Given the description of an element on the screen output the (x, y) to click on. 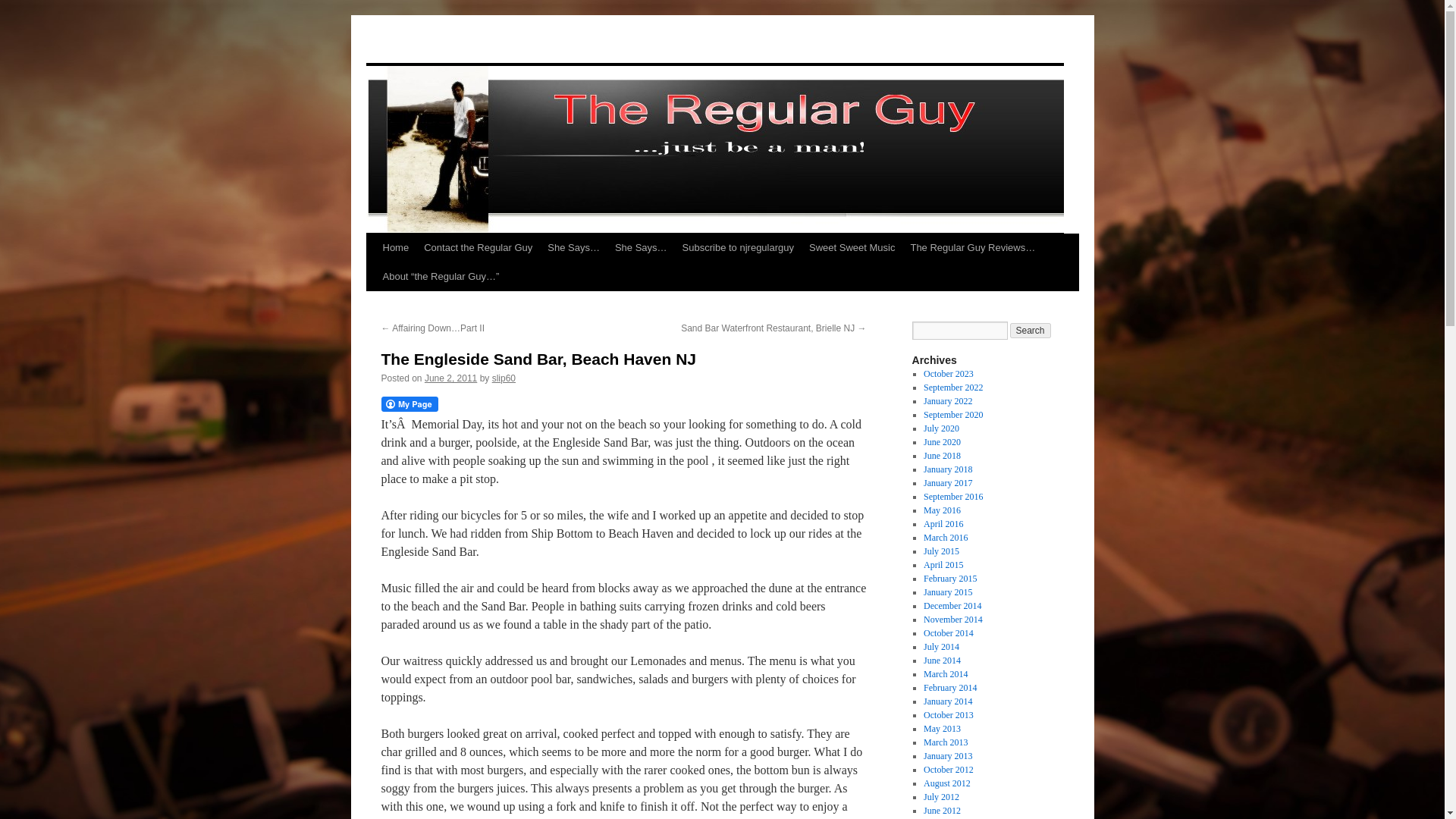
Contact the Regular Guy (478, 247)
October 2023 (948, 373)
June 2, 2011 (451, 378)
8:43 pm (451, 378)
slip60 (503, 378)
View all posts by slip60 (503, 378)
January 2022 (947, 400)
Search (1030, 330)
Sweet Sweet Music (852, 247)
Subscribe to njregularguy (738, 247)
Search (1030, 330)
September 2022 (952, 387)
Home (395, 247)
